Given the description of an element on the screen output the (x, y) to click on. 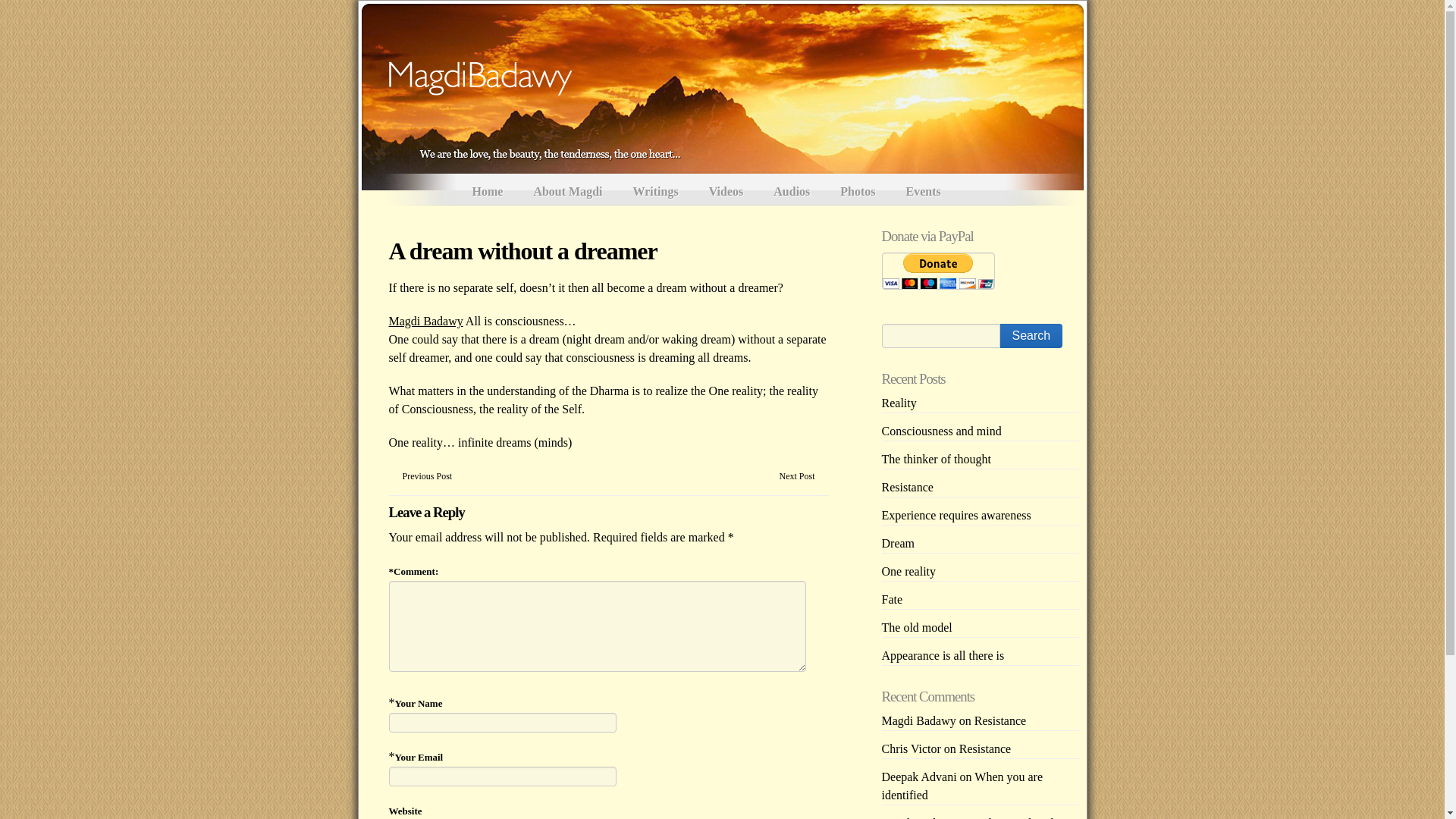
Search (1030, 335)
Writings (655, 187)
One reality (908, 571)
Home (487, 187)
Resistance (984, 748)
Events (923, 187)
Reality (897, 402)
Experience requires awareness (955, 514)
Next Post (795, 475)
When you are identified (961, 785)
Appearance is all there is (942, 655)
Search (1030, 335)
The old model (916, 626)
Videos (726, 187)
Photos (857, 187)
